Given the description of an element on the screen output the (x, y) to click on. 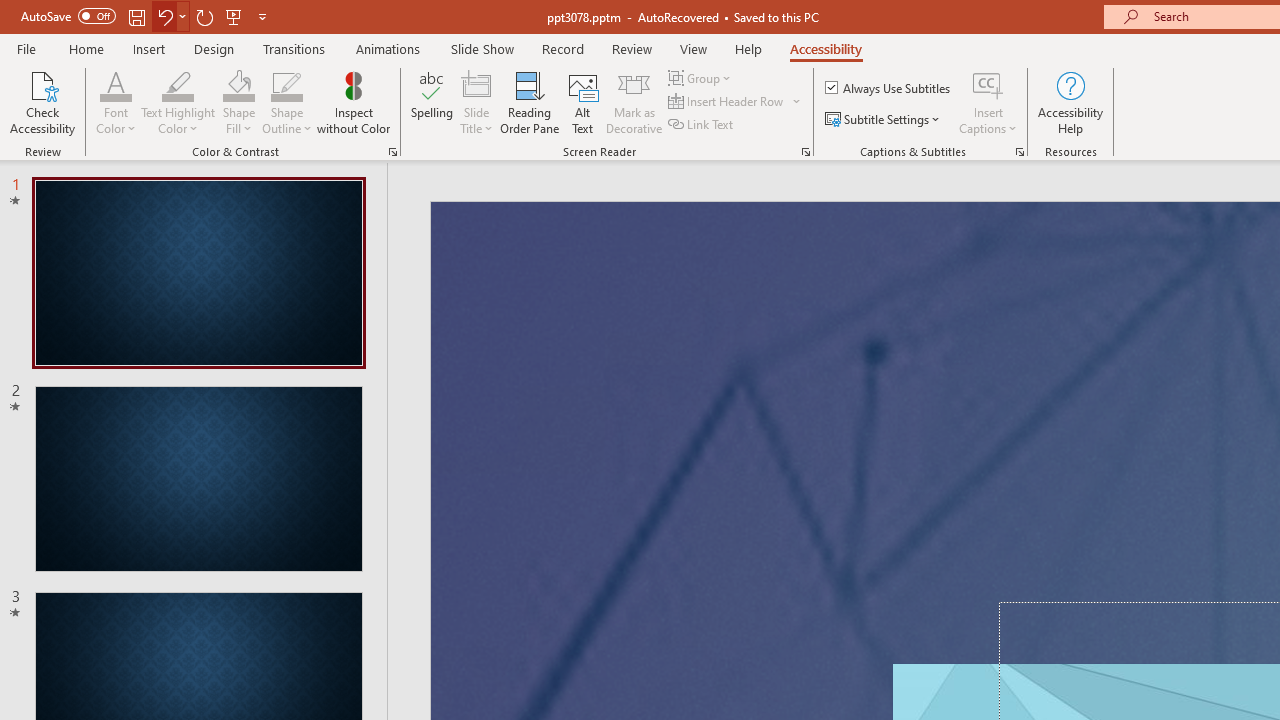
Shape Outline (286, 84)
Link Text (702, 124)
Captions & Subtitles (1019, 151)
Insert Captions (988, 84)
Shape Outline (286, 102)
